Given the description of an element on the screen output the (x, y) to click on. 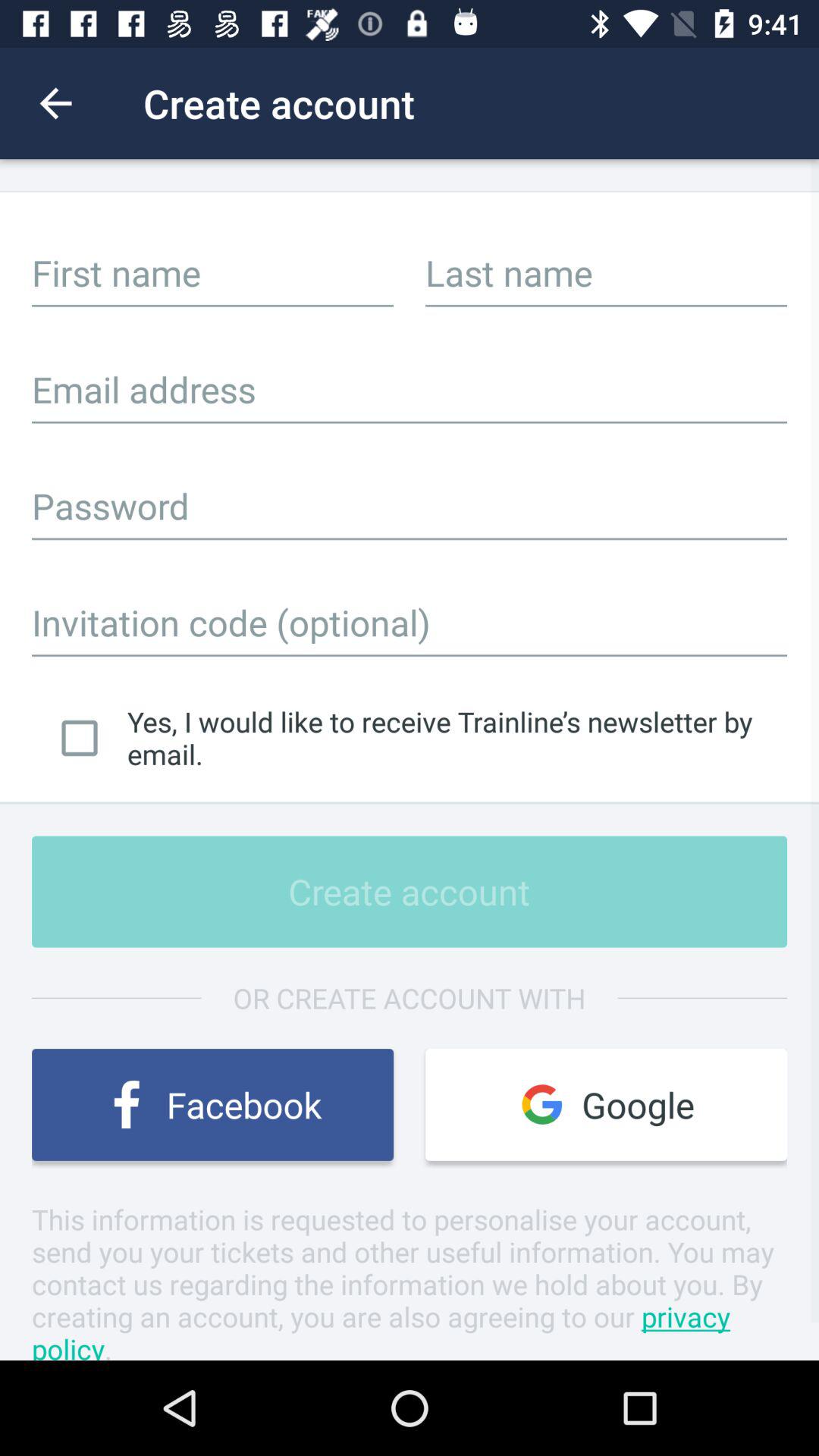
enter invitation code (409, 622)
